Given the description of an element on the screen output the (x, y) to click on. 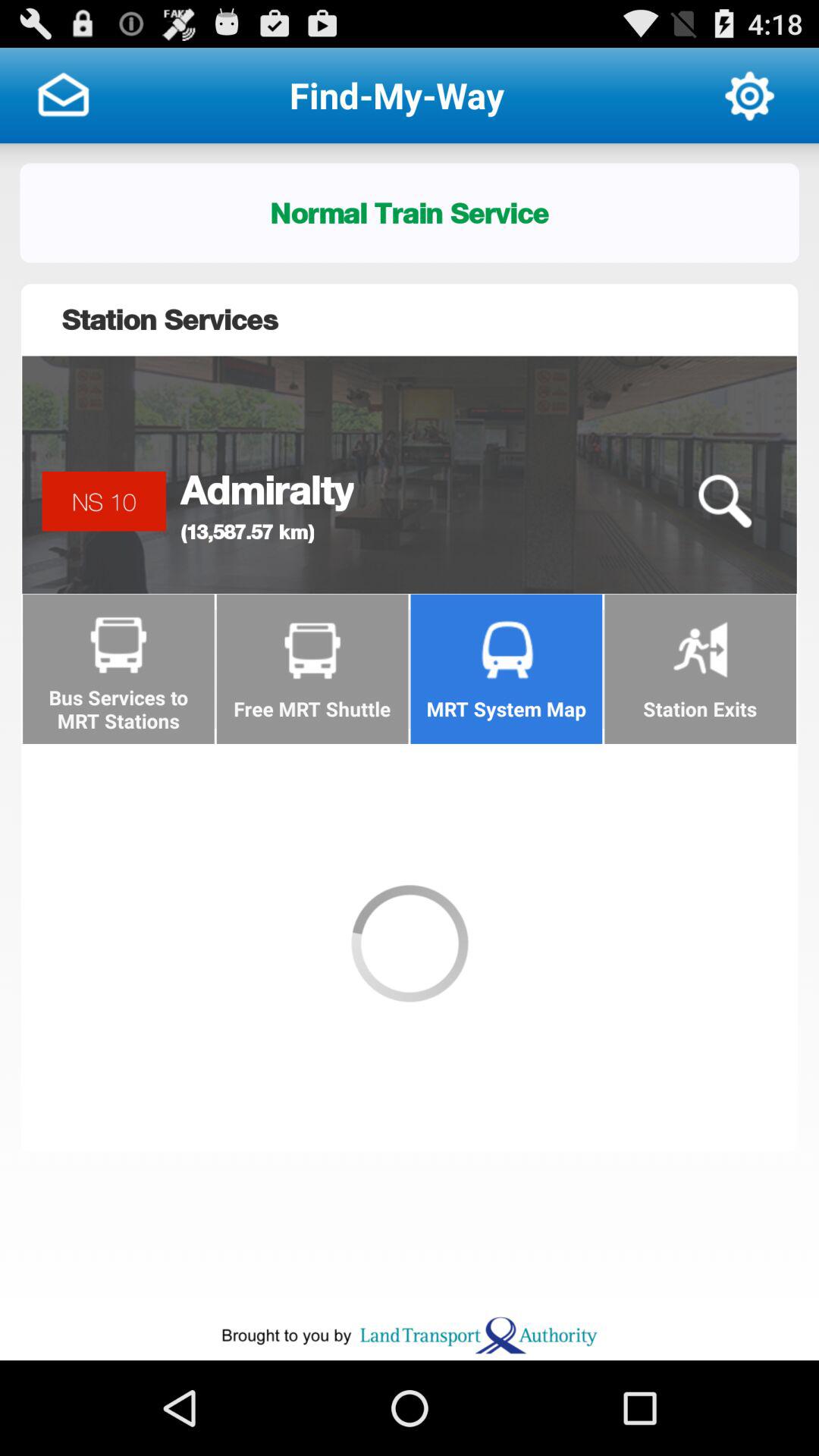
this button was inbox option (62, 95)
